Given the description of an element on the screen output the (x, y) to click on. 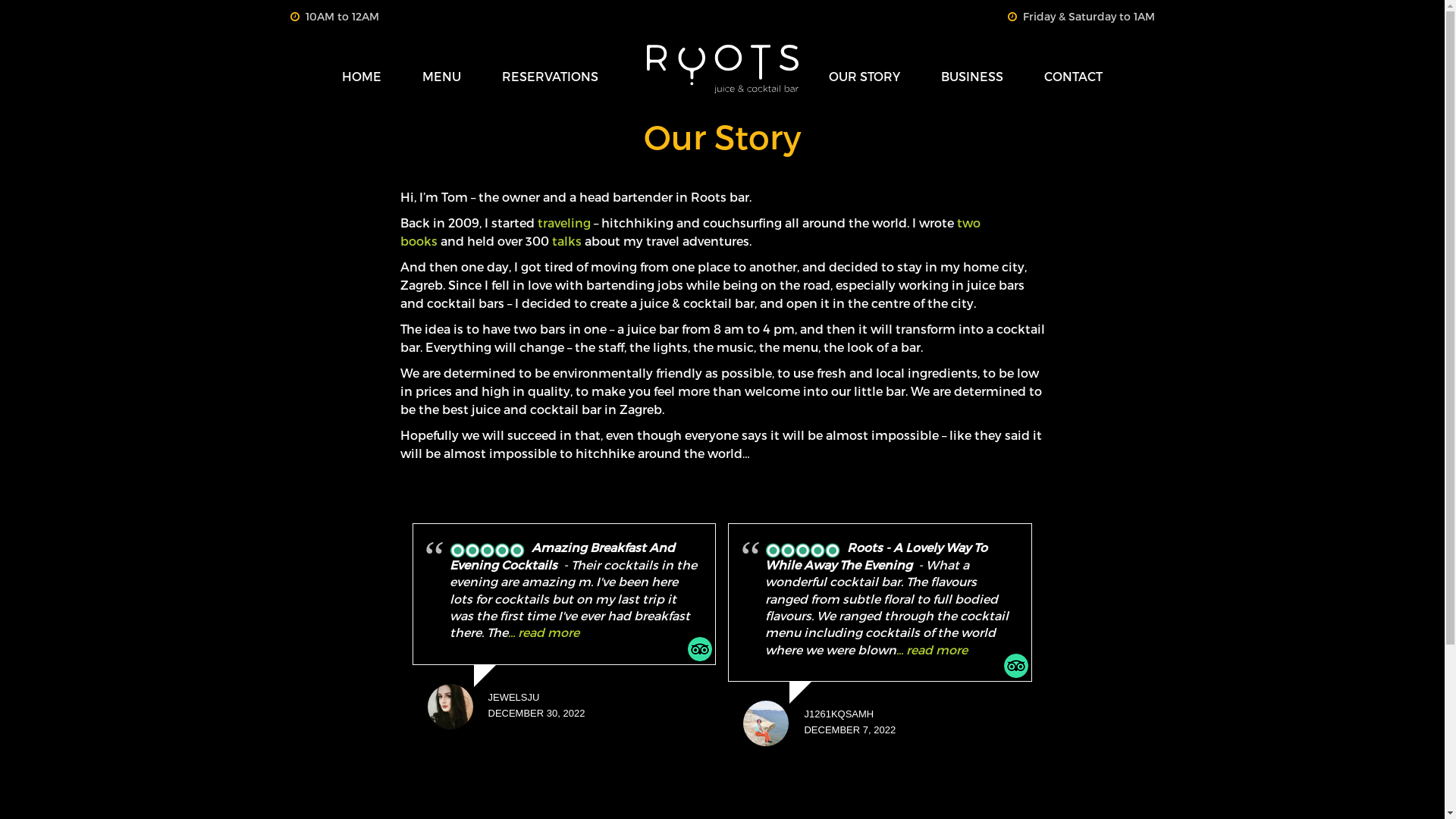
HOME Element type: text (361, 76)
traveling Element type: text (562, 222)
OUR STORY Element type: text (864, 76)
BUSINESS Element type: text (971, 76)
... read more Element type: text (931, 649)
MENU Element type: text (441, 76)
... read more Element type: text (543, 631)
RESERVATIONS Element type: text (549, 76)
talks Element type: text (566, 240)
CONTACT Element type: text (1073, 76)
two books Element type: text (690, 231)
